Given the description of an element on the screen output the (x, y) to click on. 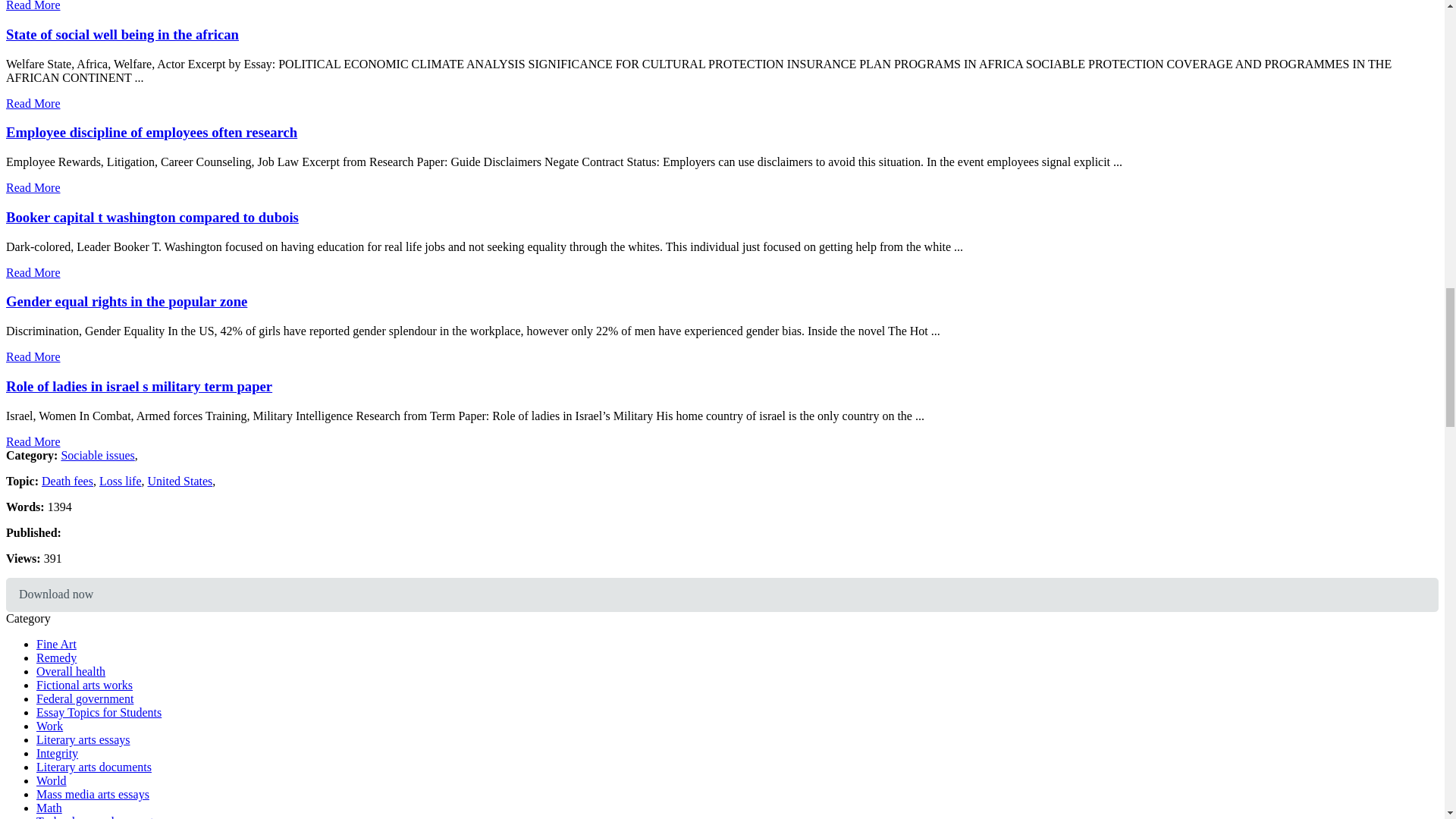
Sociable issues (97, 454)
Read More (33, 272)
Read More (33, 440)
Read More (33, 356)
Overall health (70, 671)
Read More (33, 5)
Remedy (56, 657)
Read More (33, 103)
Read More (33, 187)
Fictional arts works (84, 684)
